Given the description of an element on the screen output the (x, y) to click on. 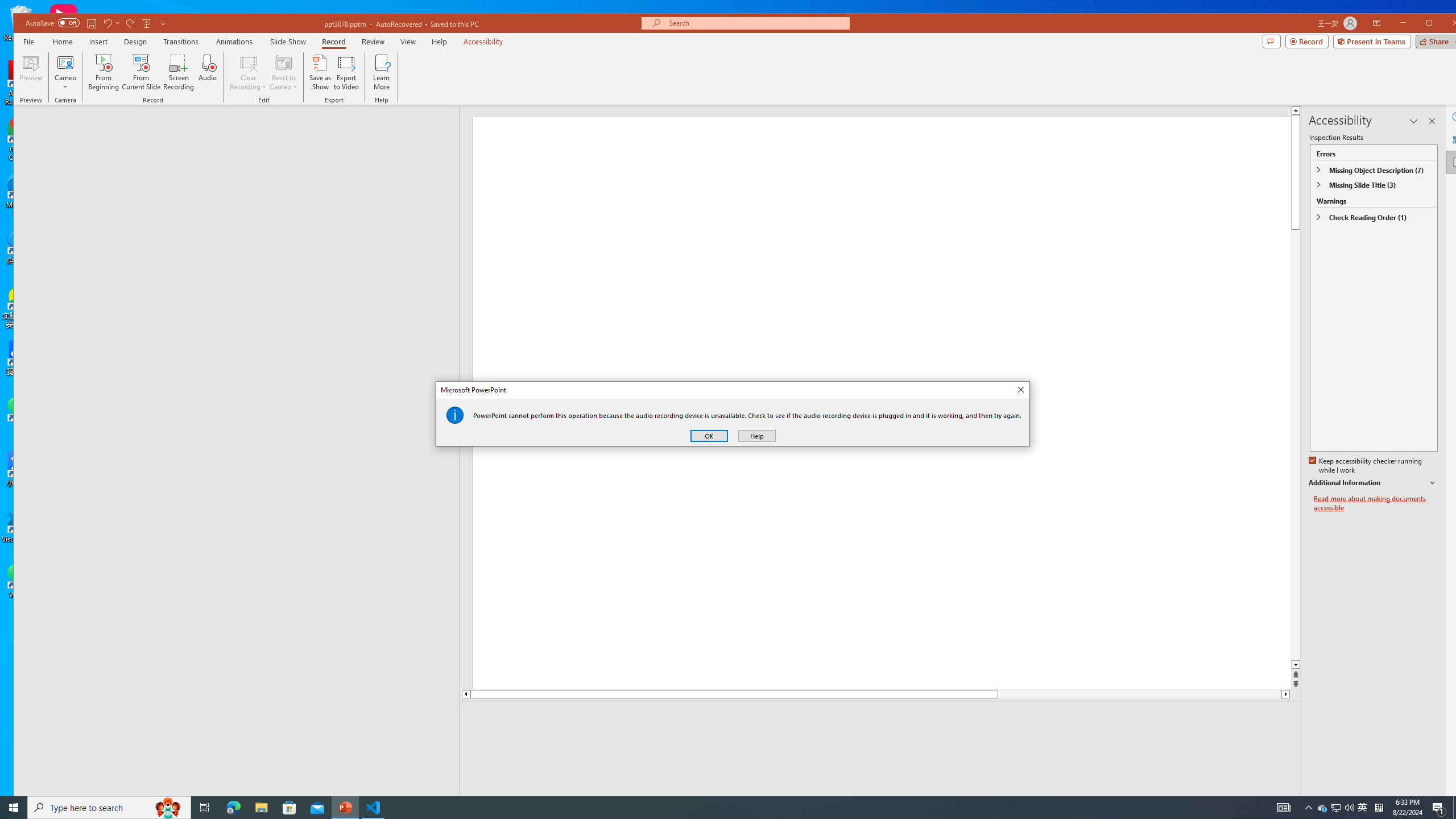
Menu On (1235, 802)
Action Center, 1 new notification (1439, 807)
Outline (1335, 807)
Maximize (240, 128)
